Given the description of an element on the screen output the (x, y) to click on. 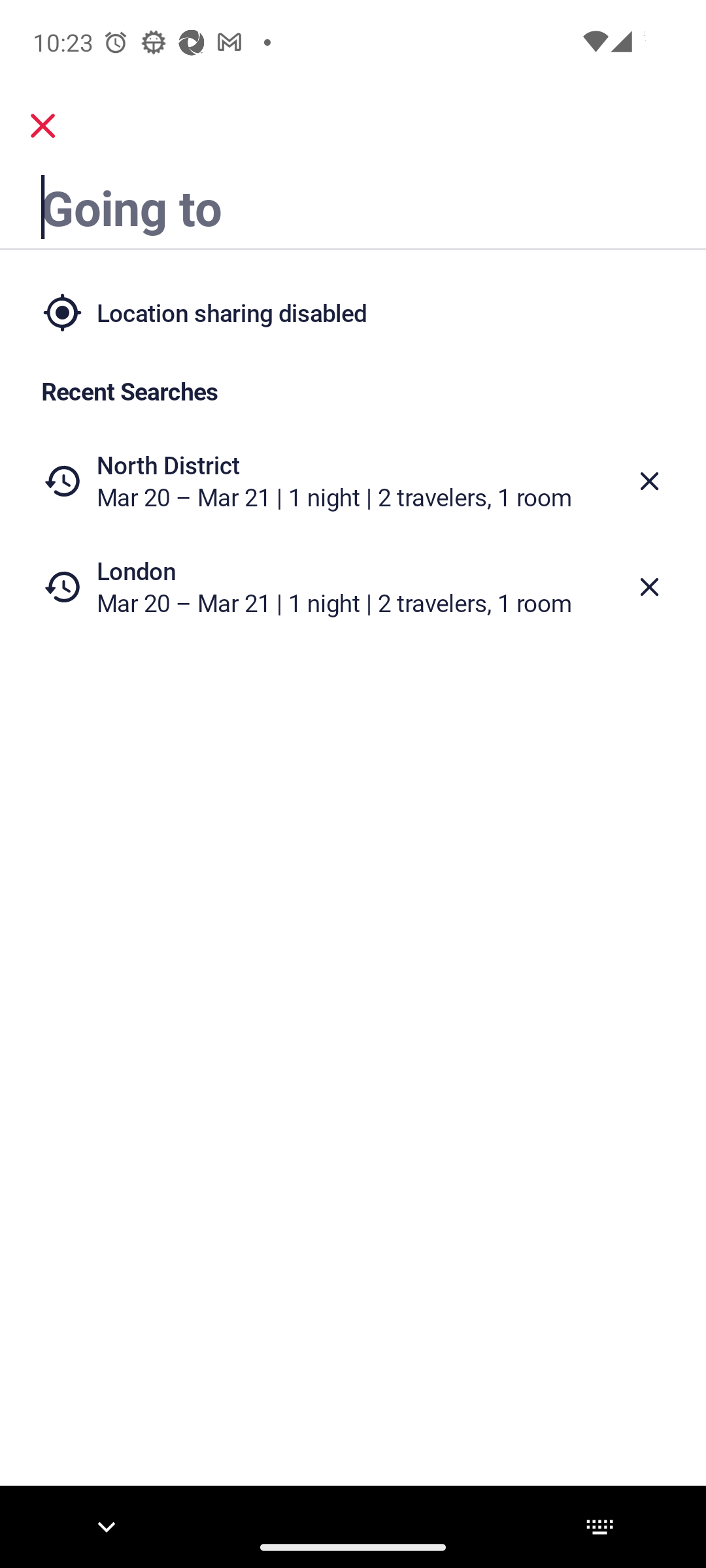
close. (43, 125)
Location sharing disabled (353, 312)
Delete from recent searches (649, 481)
Delete from recent searches (649, 586)
